Given the description of an element on the screen output the (x, y) to click on. 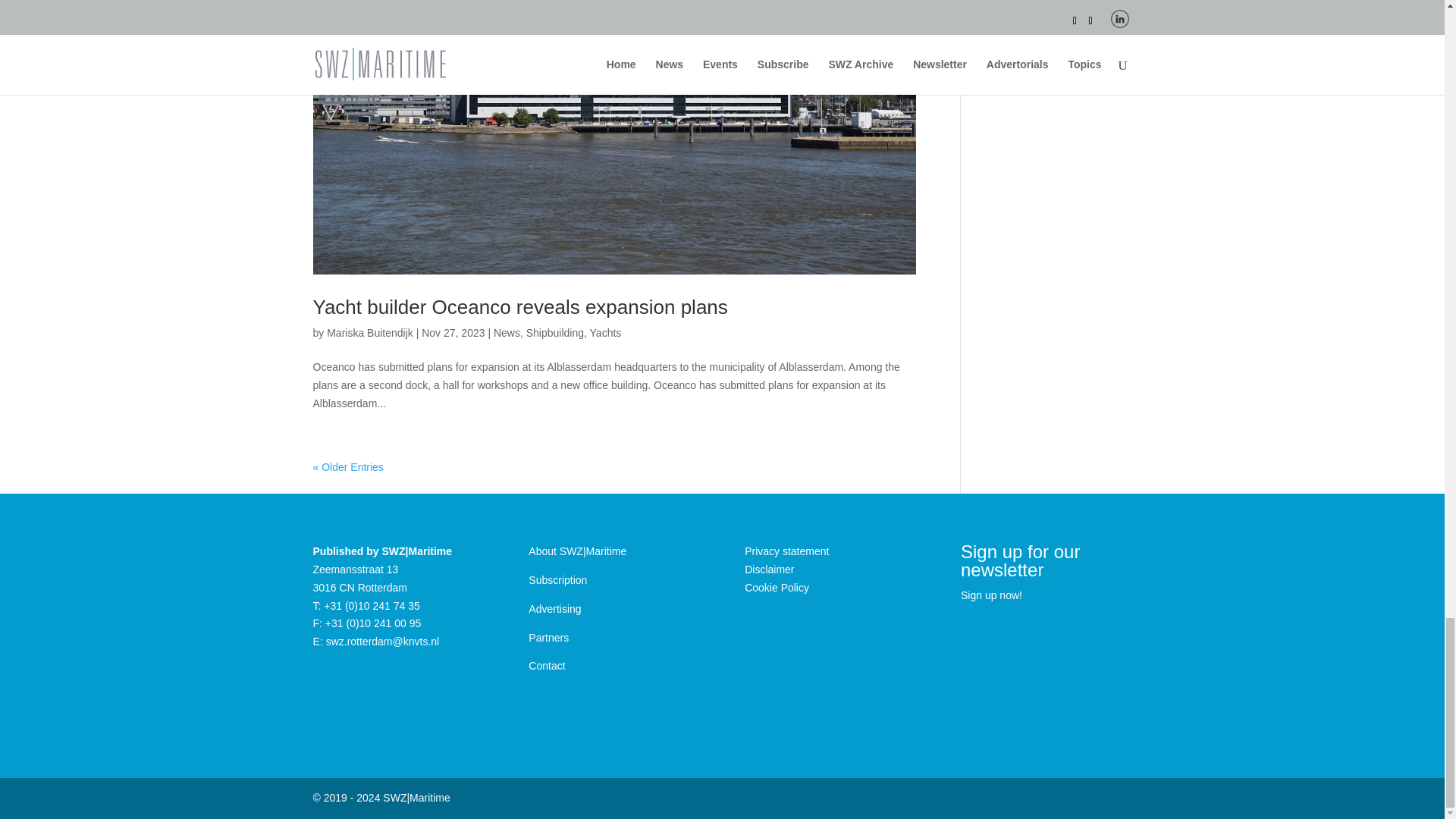
Partners (548, 637)
Advertising (554, 608)
Posts by Mariska Buitendijk (369, 332)
Contact (546, 665)
Subscription (557, 580)
